Given the description of an element on the screen output the (x, y) to click on. 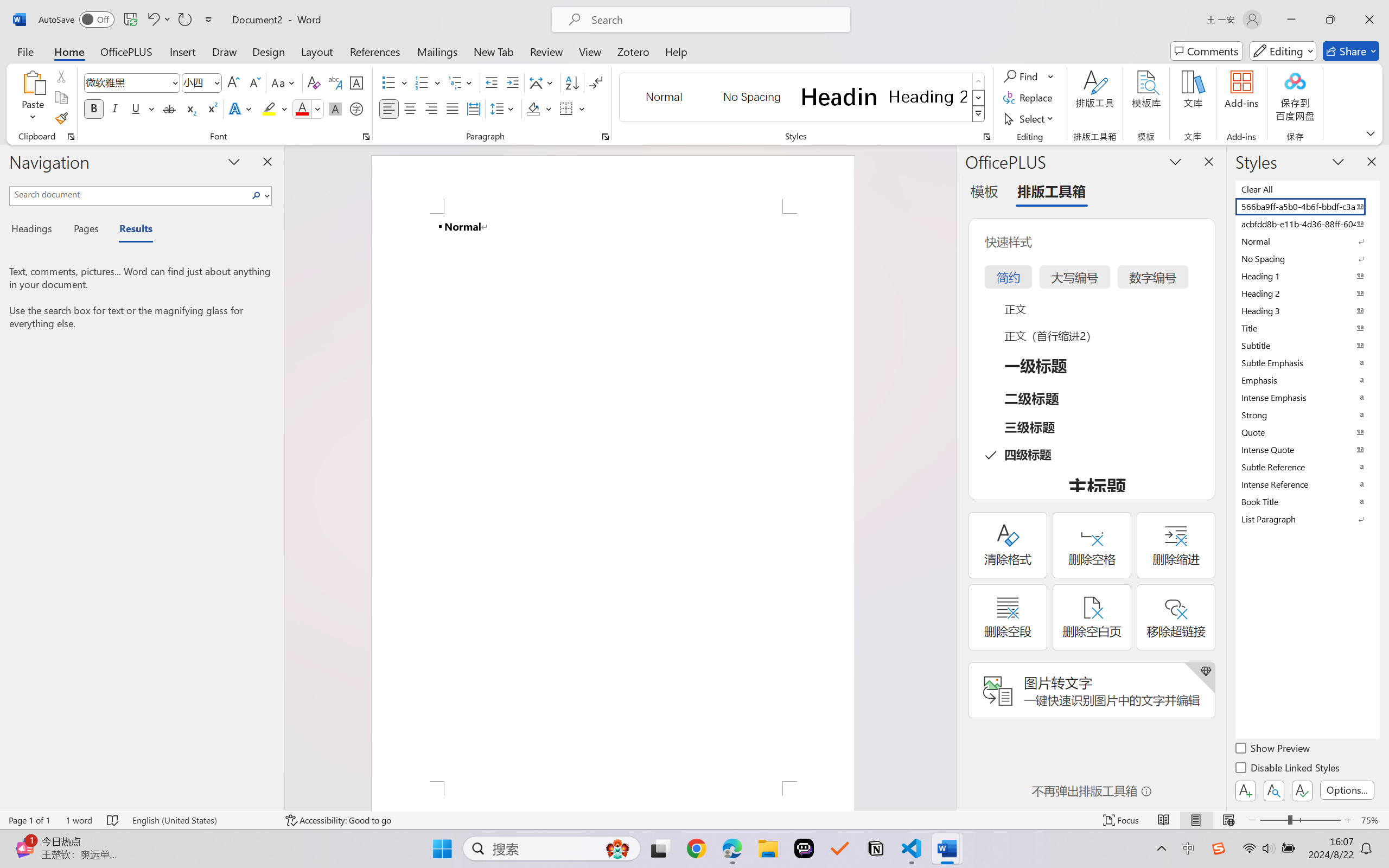
Class: NetUIScrollBar (948, 477)
Numbering (428, 82)
Heading 3 (1306, 310)
Show Preview (1273, 749)
Intense Emphasis (1306, 397)
Font Size (201, 82)
Strong (1306, 414)
Text Highlight Color (274, 108)
Copy (60, 97)
Align Left (388, 108)
